Given the description of an element on the screen output the (x, y) to click on. 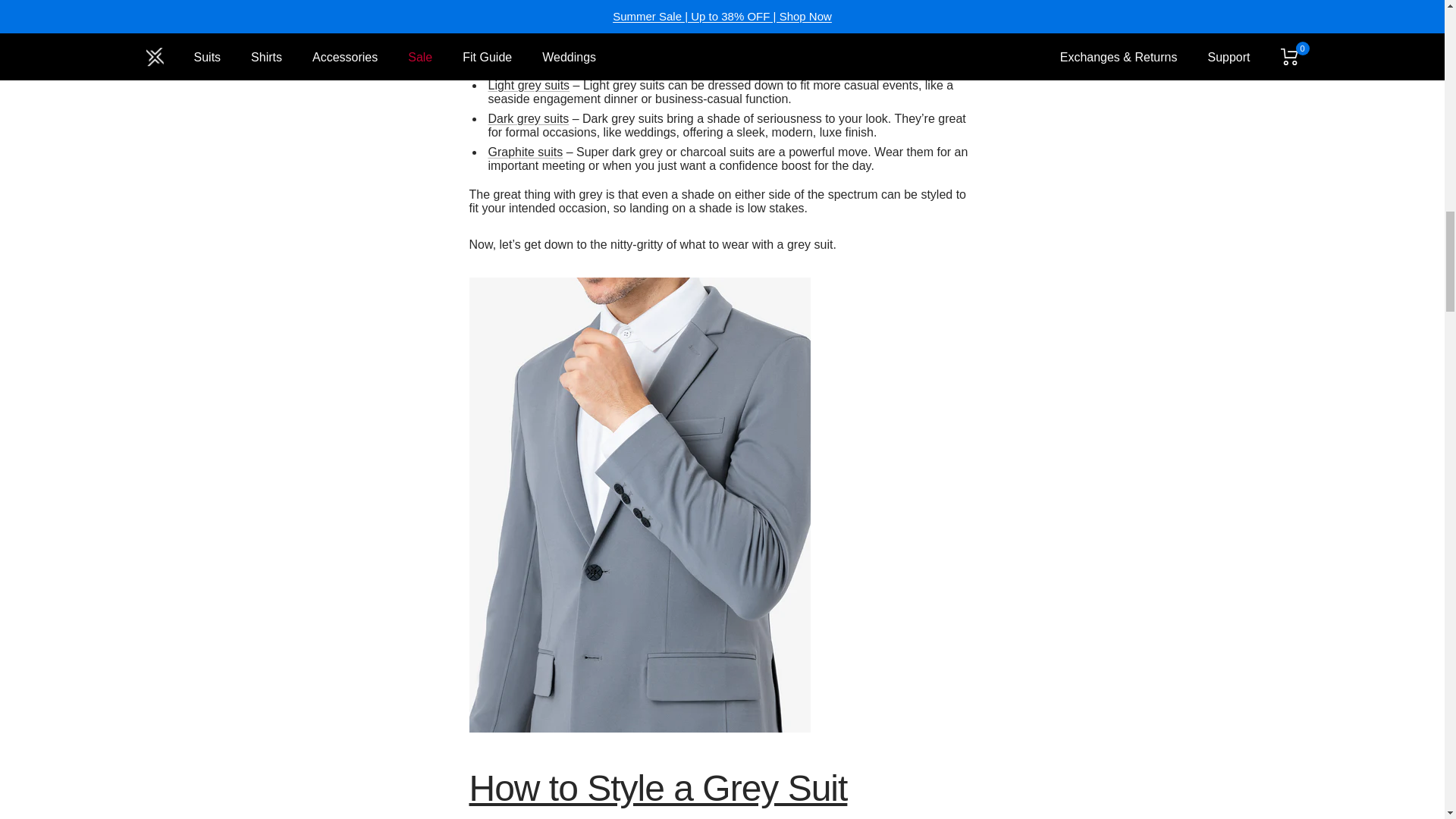
Graphite suits (525, 151)
Light grey suits (528, 84)
Dark grey suits (528, 118)
